Given the description of an element on the screen output the (x, y) to click on. 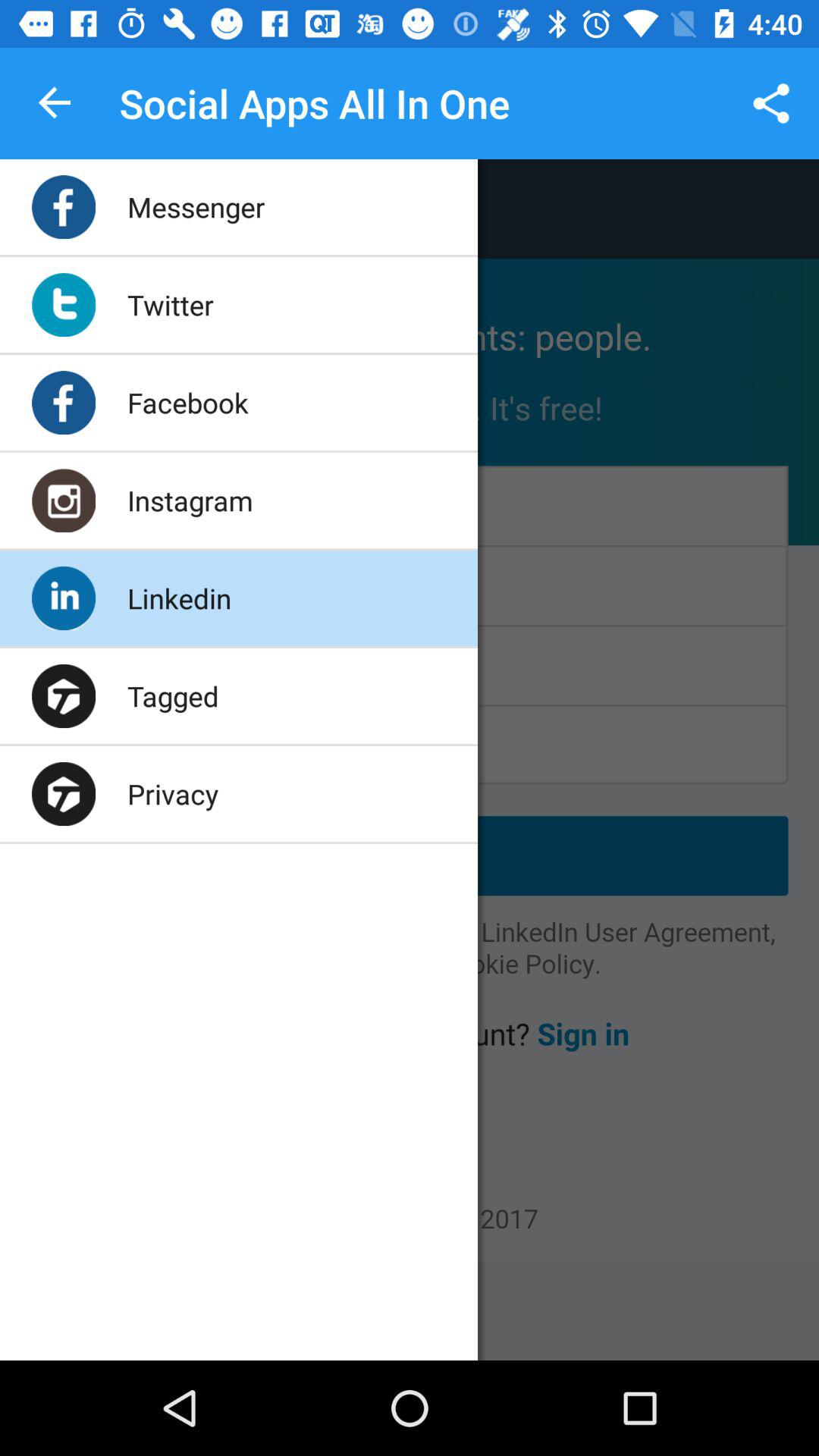
tap the item below social apps all app (196, 206)
